Given the description of an element on the screen output the (x, y) to click on. 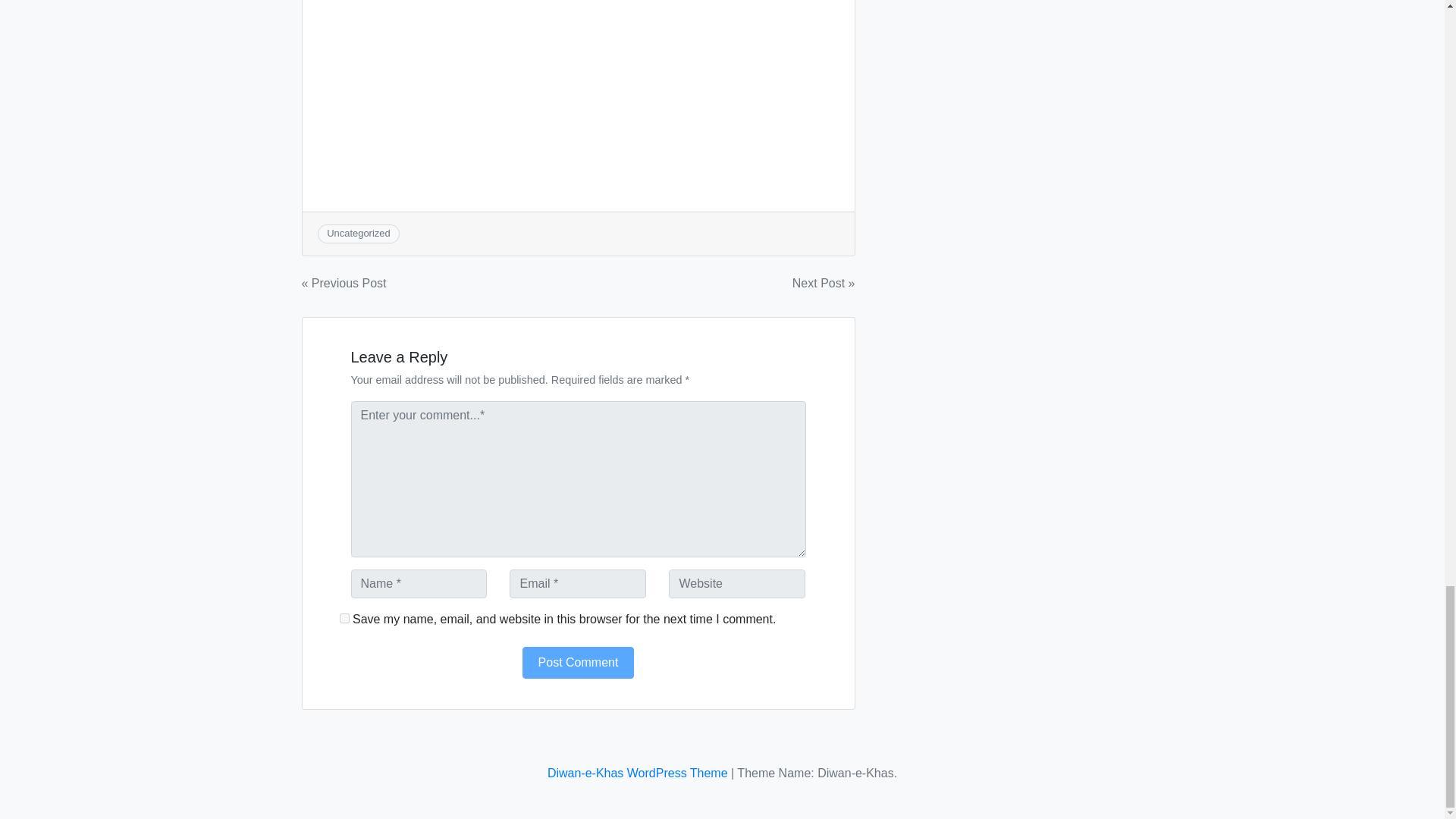
Post Comment (578, 662)
Bird Nest Removed. How to prevent nesting again! (577, 75)
Uncategorized (358, 233)
Post Comment (578, 662)
Diwan-e-Khas WordPress Theme (637, 772)
yes (344, 618)
